Given the description of an element on the screen output the (x, y) to click on. 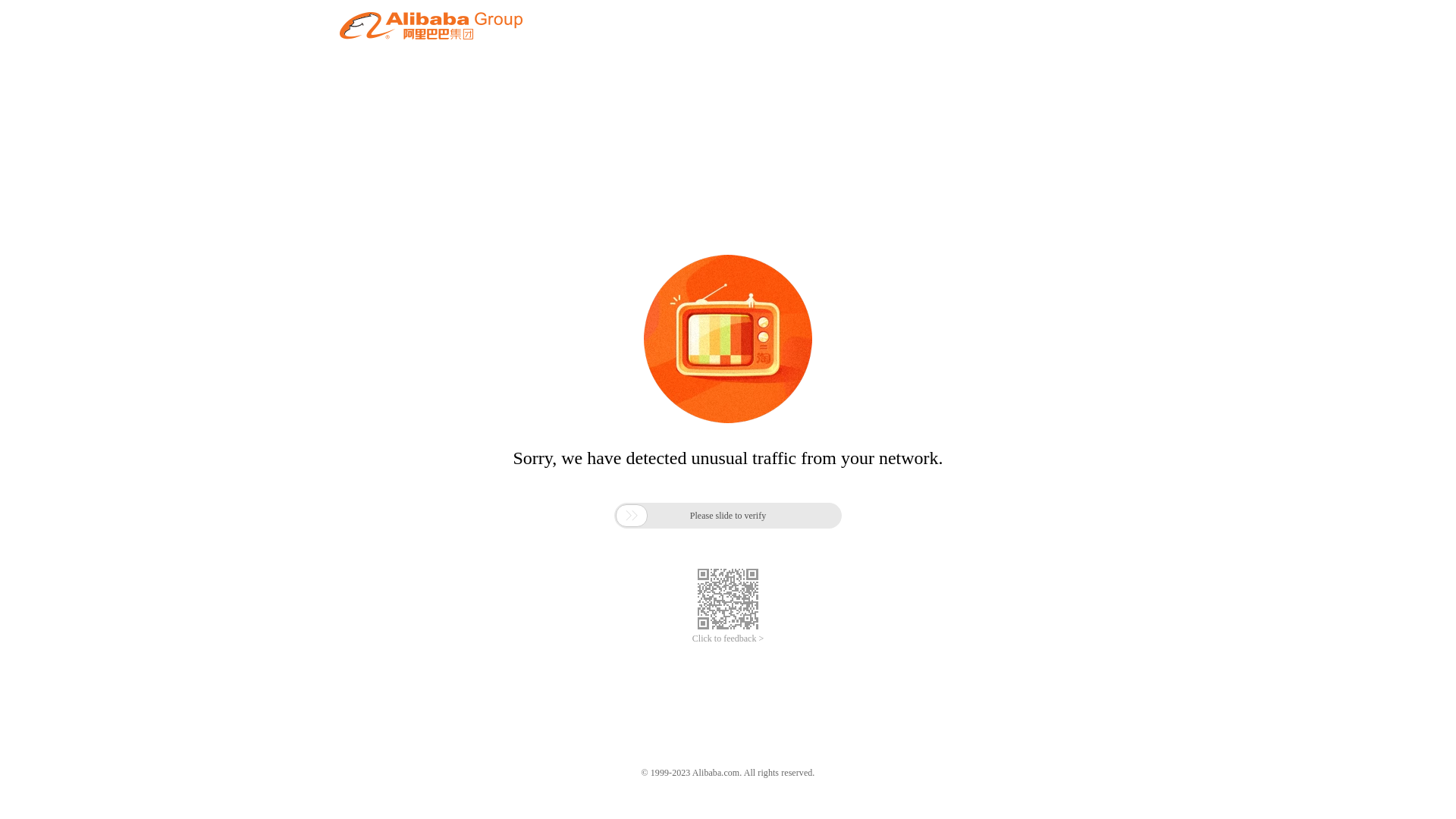
Click to feedback > Element type: text (727, 638)
